Given the description of an element on the screen output the (x, y) to click on. 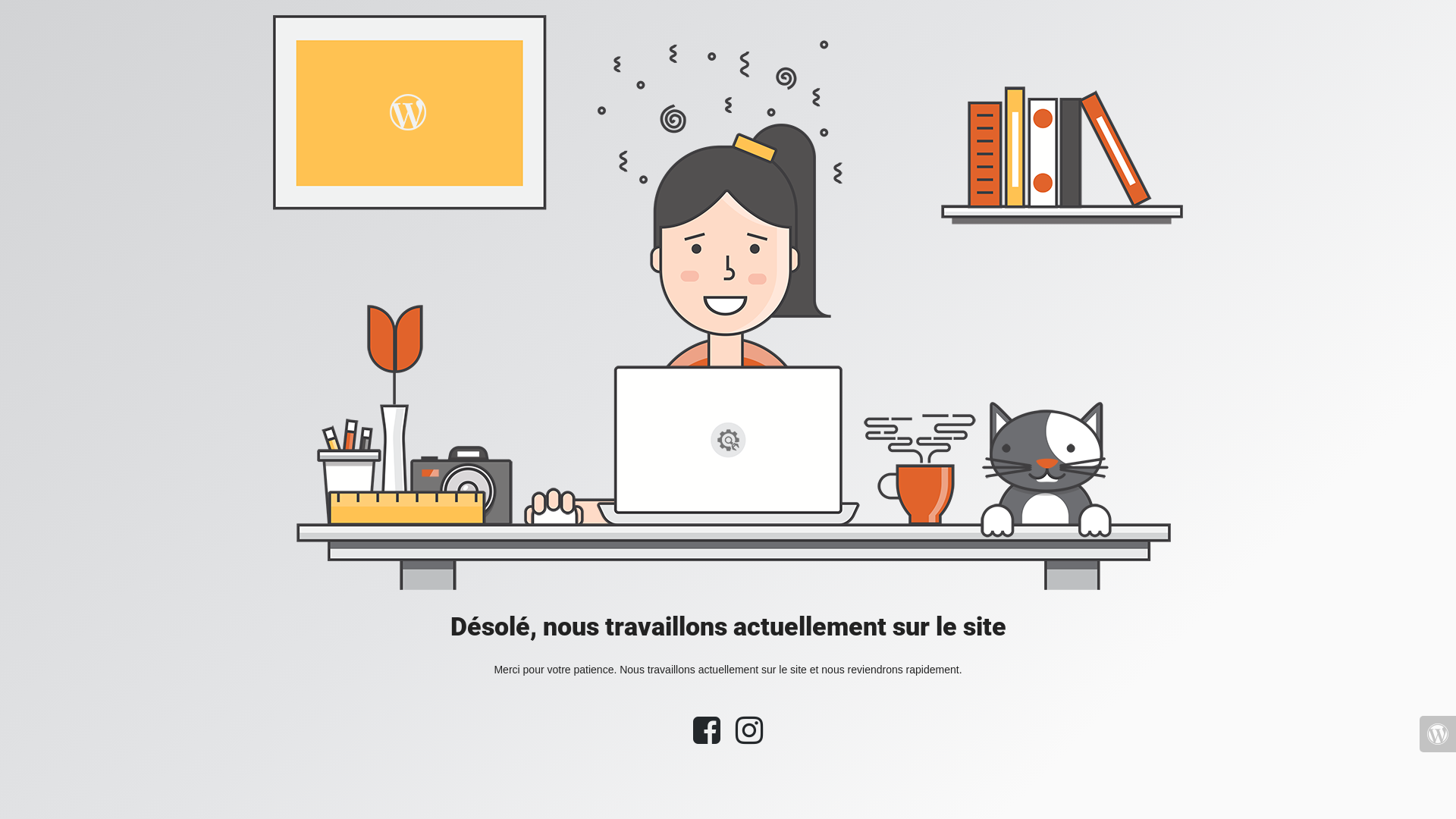
Cyber Chick at work Element type: hover (728, 302)
Facebook Element type: hover (706, 737)
Instagram Element type: hover (749, 737)
